Given the description of an element on the screen output the (x, y) to click on. 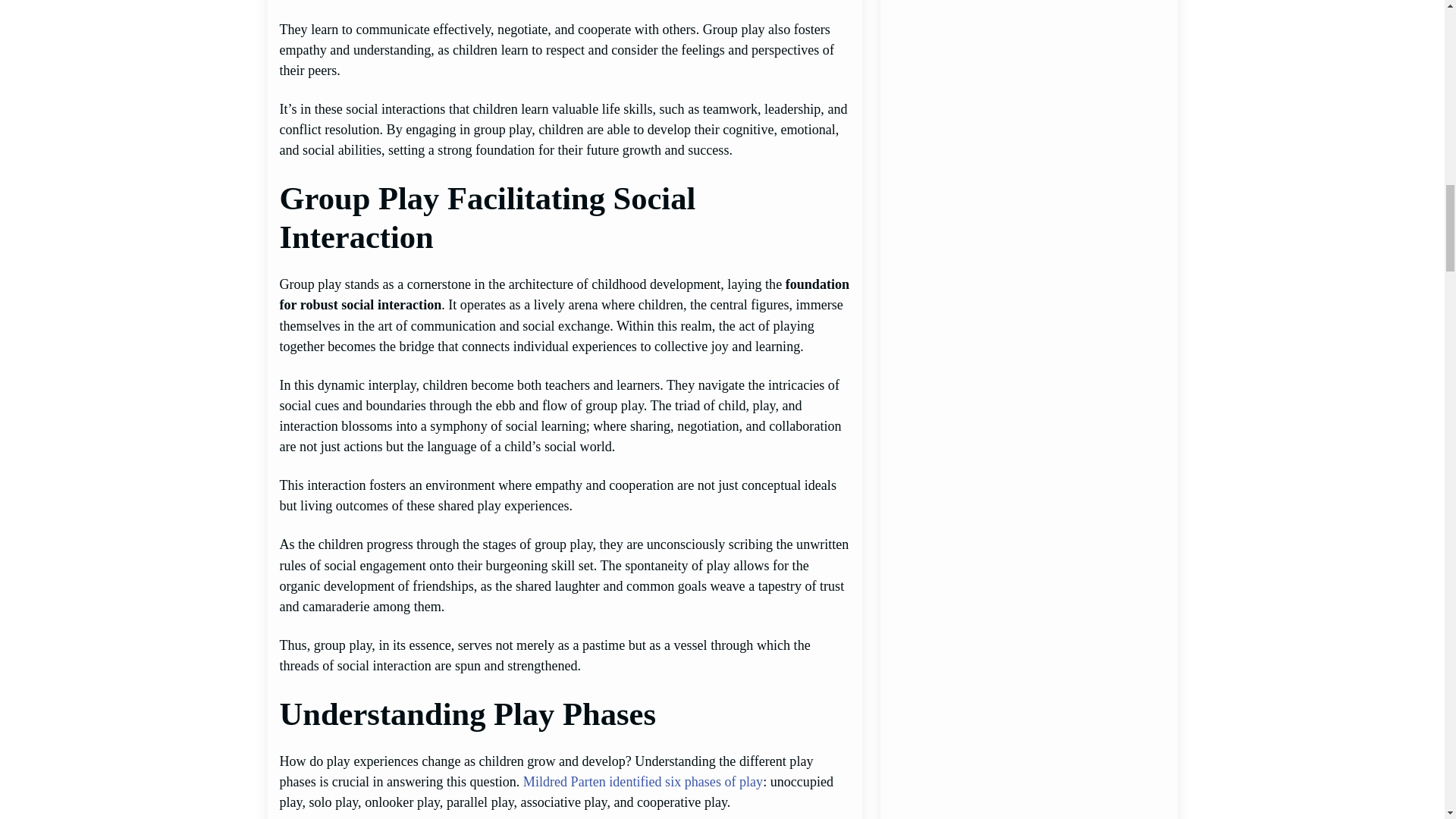
Best Toys For 3 Month Old Babies 20 (1027, 791)
Best Wooden Play Kitchens for Kids in 2023 16 (1027, 224)
Best Wooden Marble Run Sets for Kids in 2023 15 (1027, 79)
Mildred Parten identified six phases of play (642, 781)
